Given the description of an element on the screen output the (x, y) to click on. 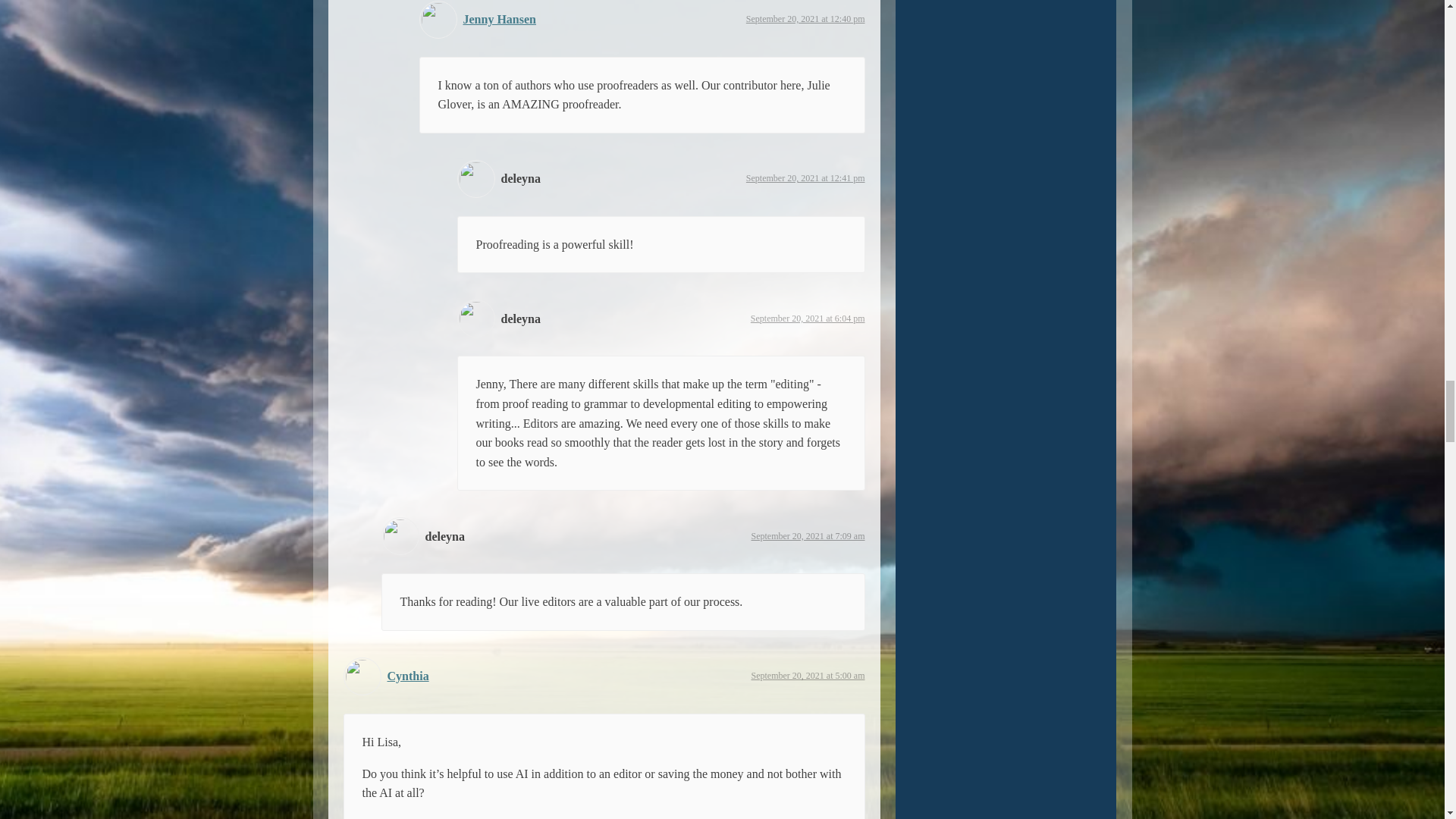
September 20, 2021 at 12:40 pm (804, 18)
September 20, 2021 at 7:09 am (807, 535)
September 20, 2021 at 5:00 am (807, 675)
Jenny Hansen (499, 19)
Cynthia (407, 675)
September 20, 2021 at 6:04 pm (807, 317)
September 20, 2021 at 12:41 pm (804, 177)
